Given the description of an element on the screen output the (x, y) to click on. 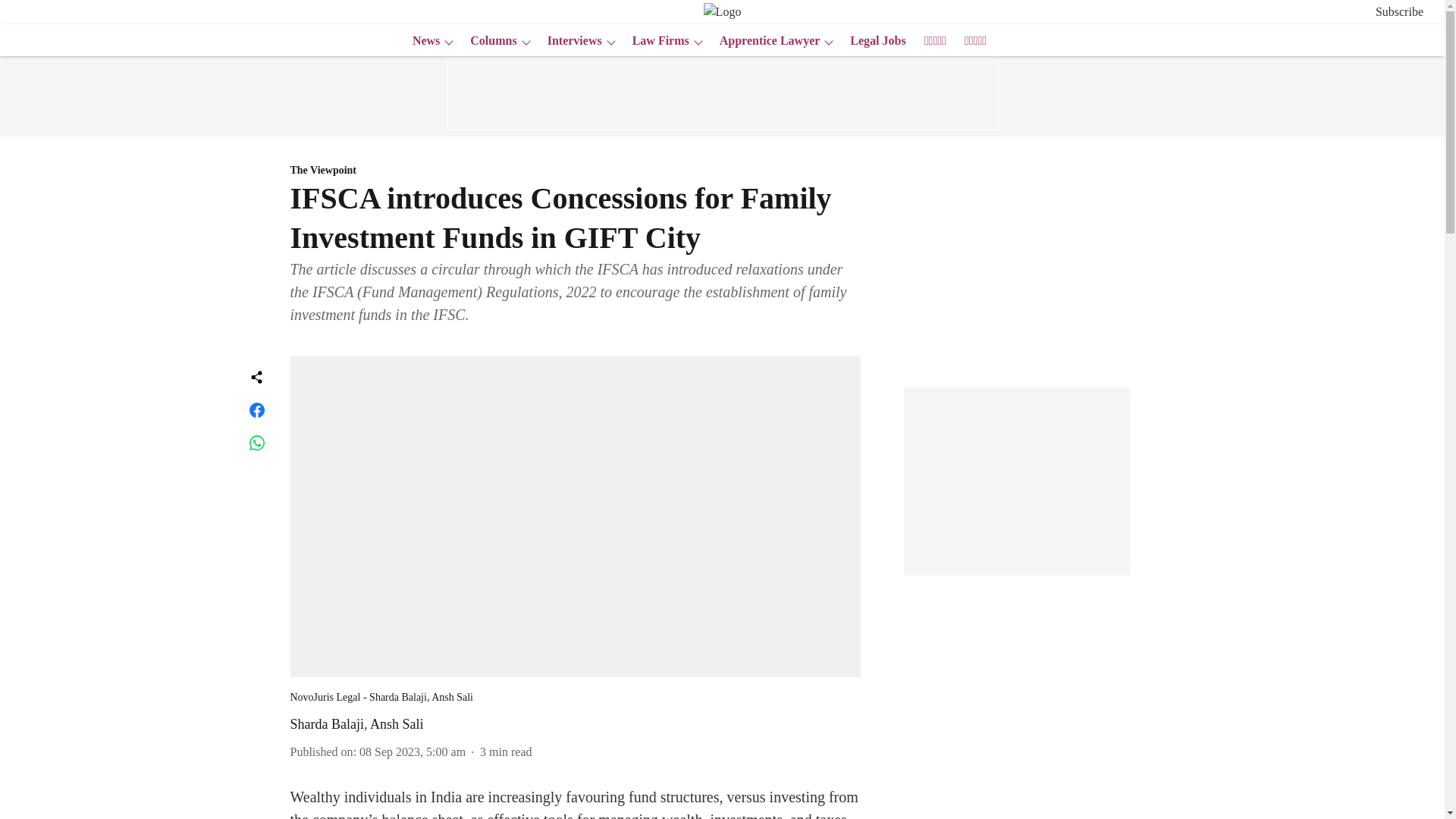
Interviews (570, 40)
2023-09-08 05:00 (412, 751)
Sharda Balaji (325, 724)
Ansh Sali (396, 724)
News (421, 40)
Columns (488, 40)
Legal Jobs (873, 40)
The Viewpoint (574, 170)
Apprentice Lawyer (765, 40)
Law Firms (655, 40)
